Given the description of an element on the screen output the (x, y) to click on. 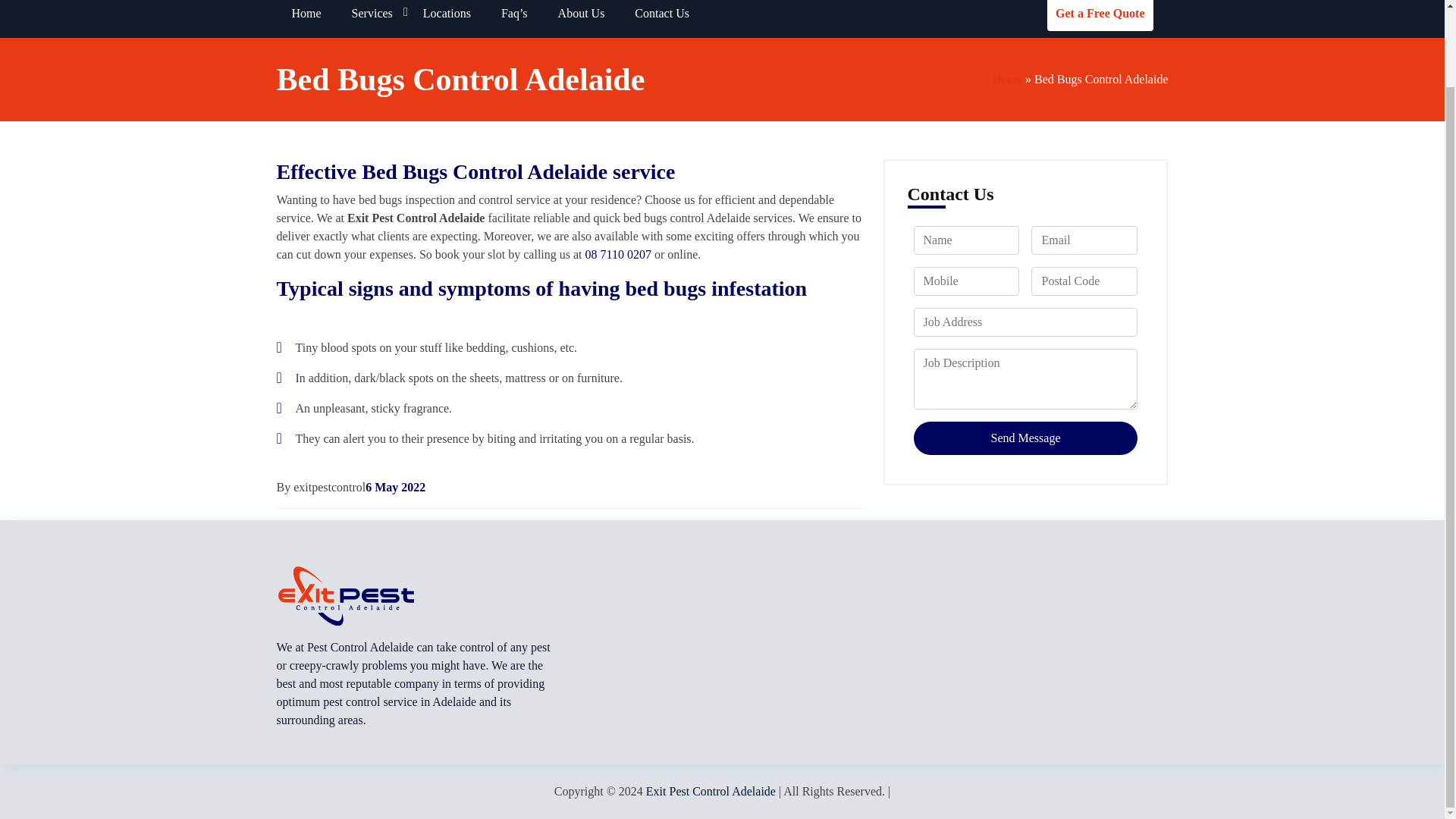
Send Message (1024, 438)
About Us (581, 18)
Home (306, 18)
Home (306, 18)
Services (371, 18)
Locations (446, 18)
Get a Free Quote (1099, 15)
About Us (581, 18)
Contact Us (662, 18)
Locations (446, 18)
